Given the description of an element on the screen output the (x, y) to click on. 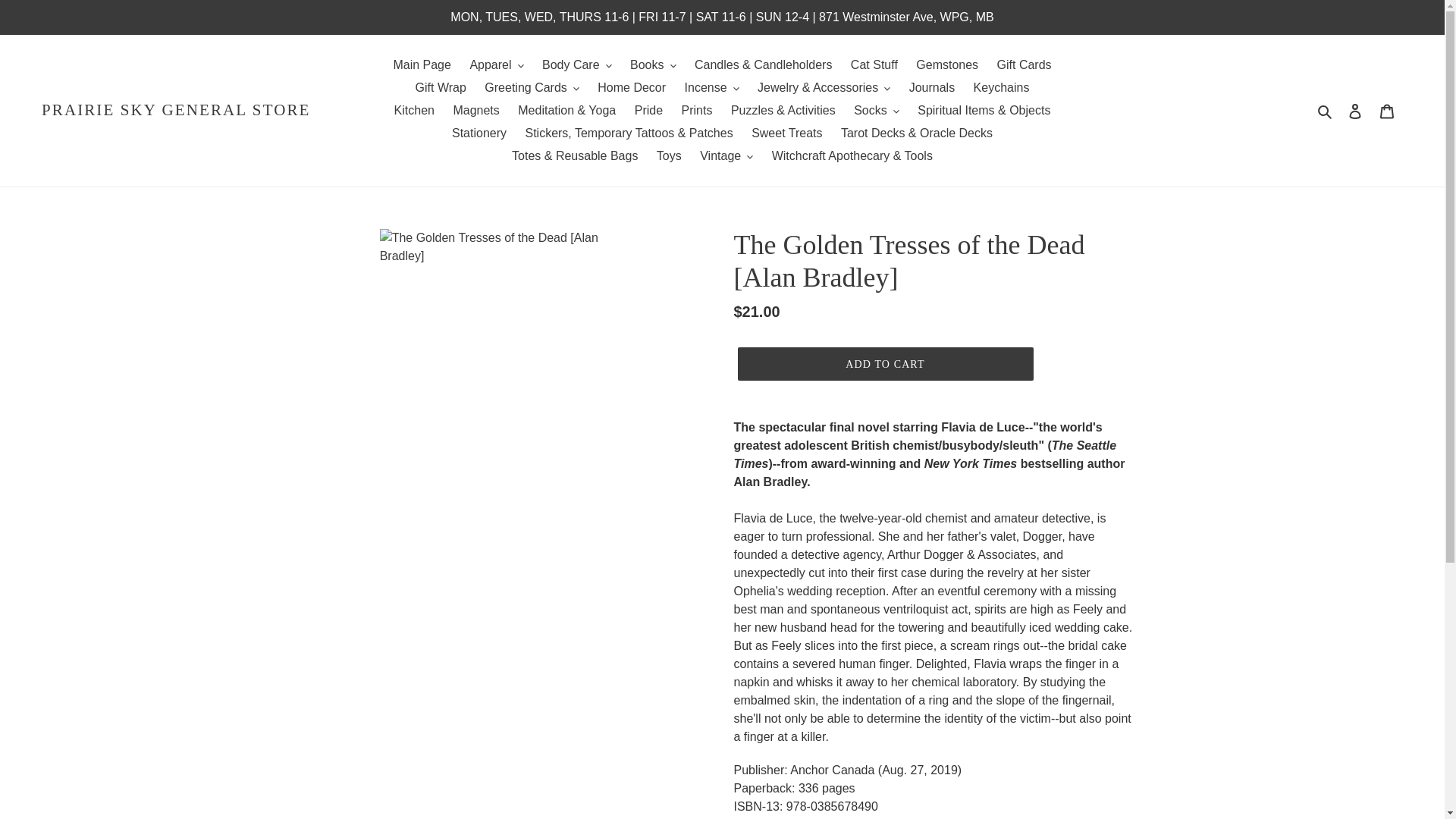
Books (652, 65)
PRAIRIE SKY GENERAL STORE (176, 109)
Apparel (496, 65)
Main Page (421, 65)
Body Care (577, 65)
